Given the description of an element on the screen output the (x, y) to click on. 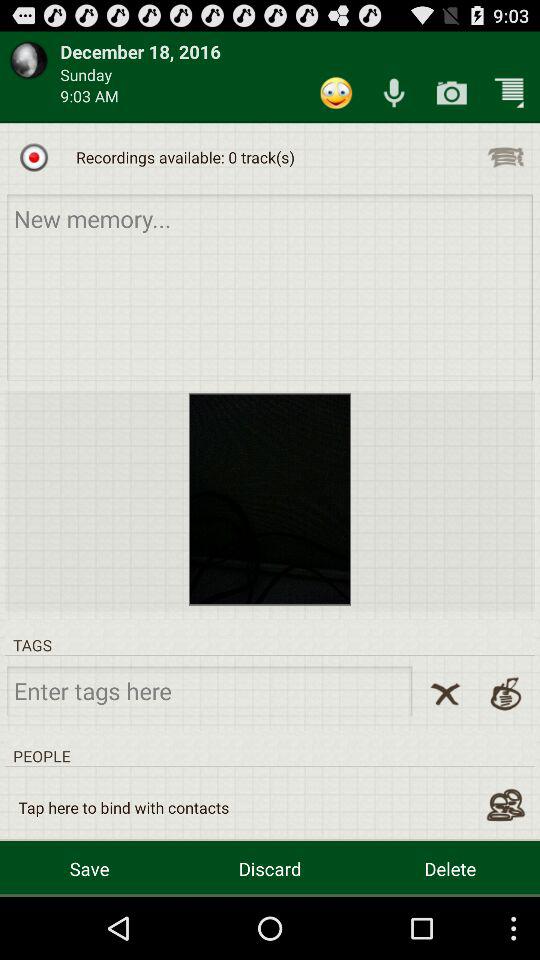
delete tag (445, 694)
